Given the description of an element on the screen output the (x, y) to click on. 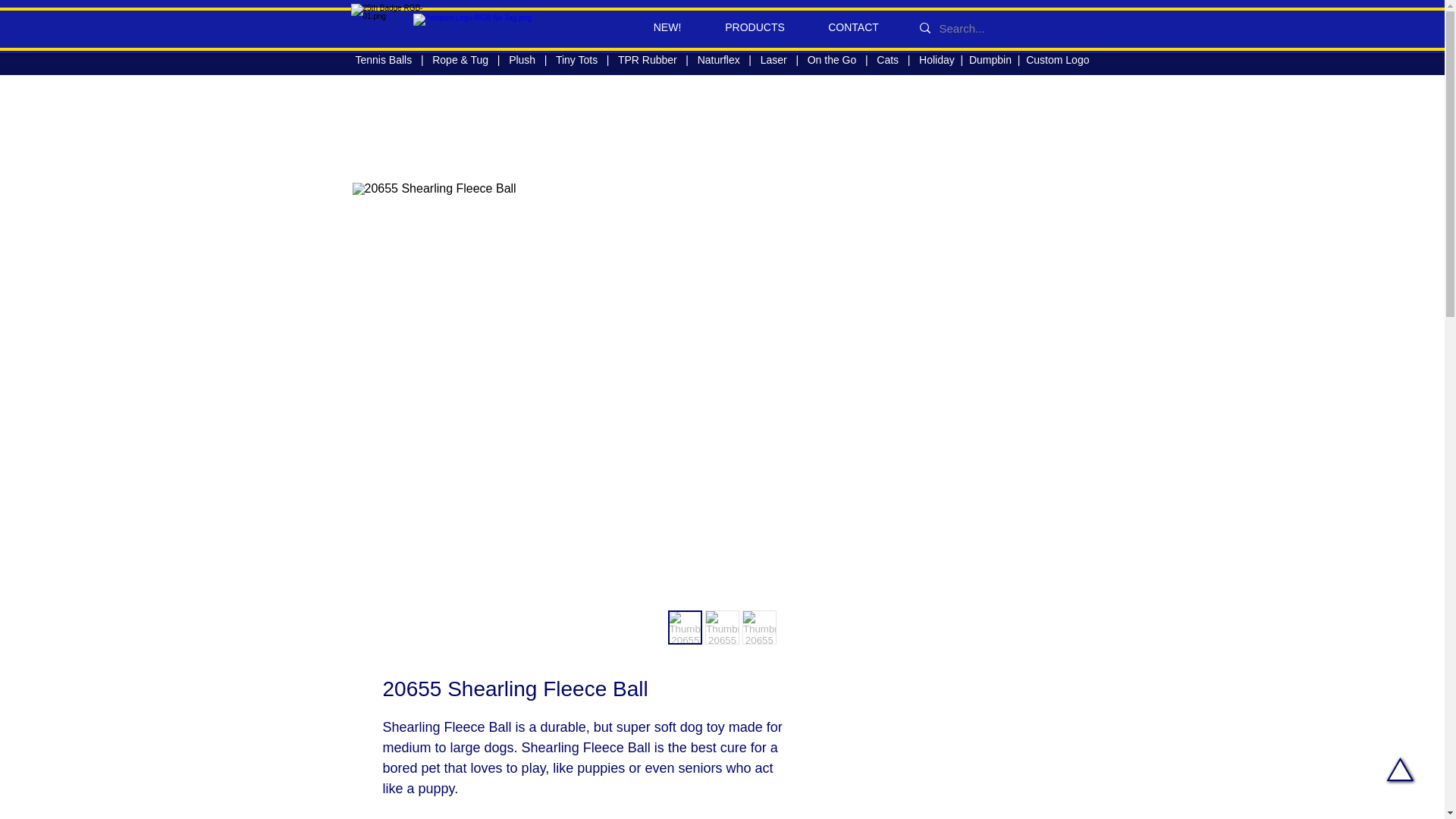
On the Go (832, 60)
NEW! (666, 26)
Dumpbin  (993, 60)
Cats (887, 60)
Plush (521, 60)
 Tiny Tots (574, 60)
Naturflex (718, 60)
CONTACT (853, 26)
PRODUCTS (754, 26)
Custom Logo (1057, 60)
